Given the description of an element on the screen output the (x, y) to click on. 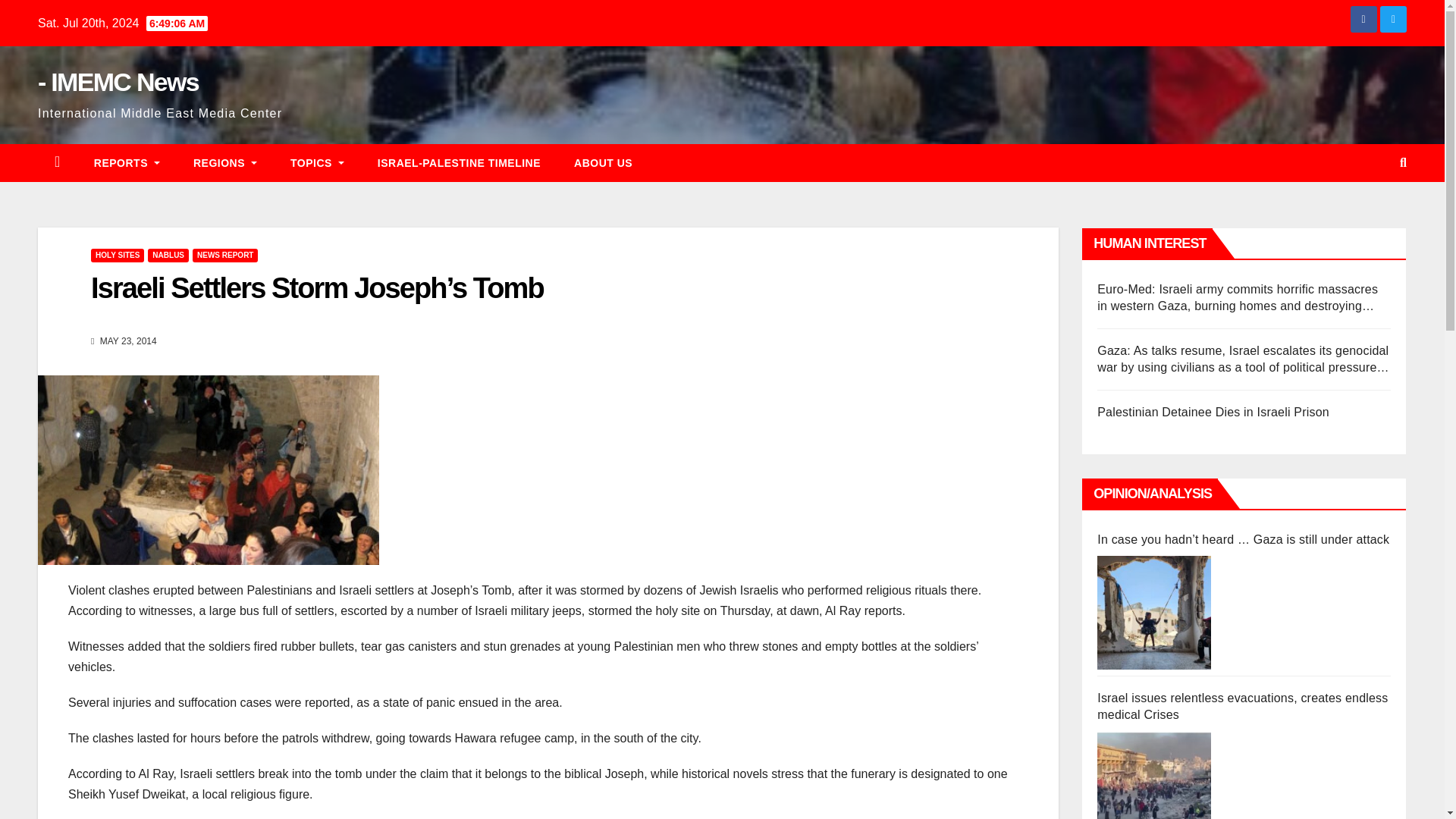
REGIONS (224, 162)
Reports (126, 162)
Regions (224, 162)
TOPICS (317, 162)
REPORTS (126, 162)
- IMEMC News (117, 81)
